Given the description of an element on the screen output the (x, y) to click on. 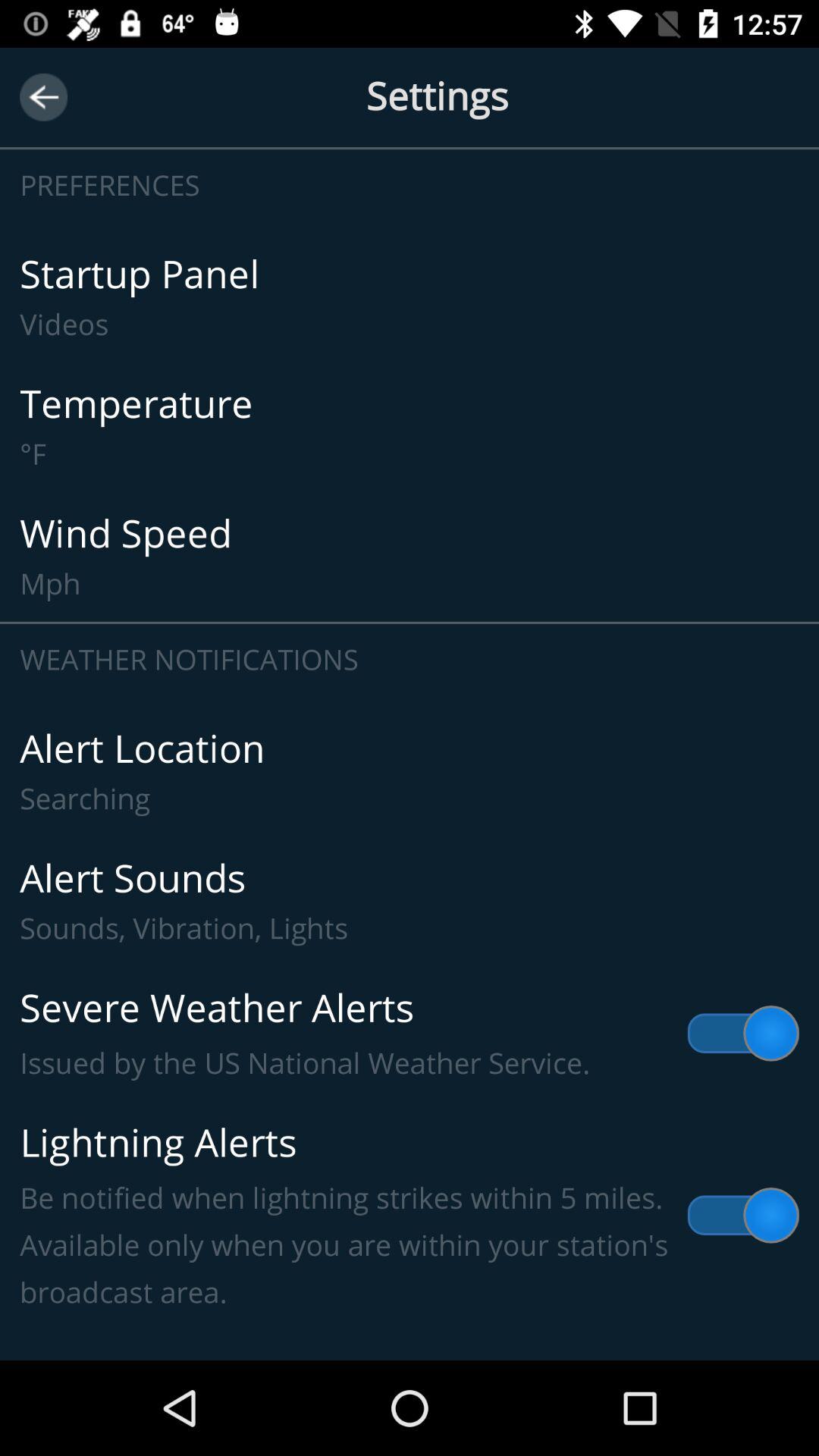
tap the icon below the preferences (409, 297)
